Given the description of an element on the screen output the (x, y) to click on. 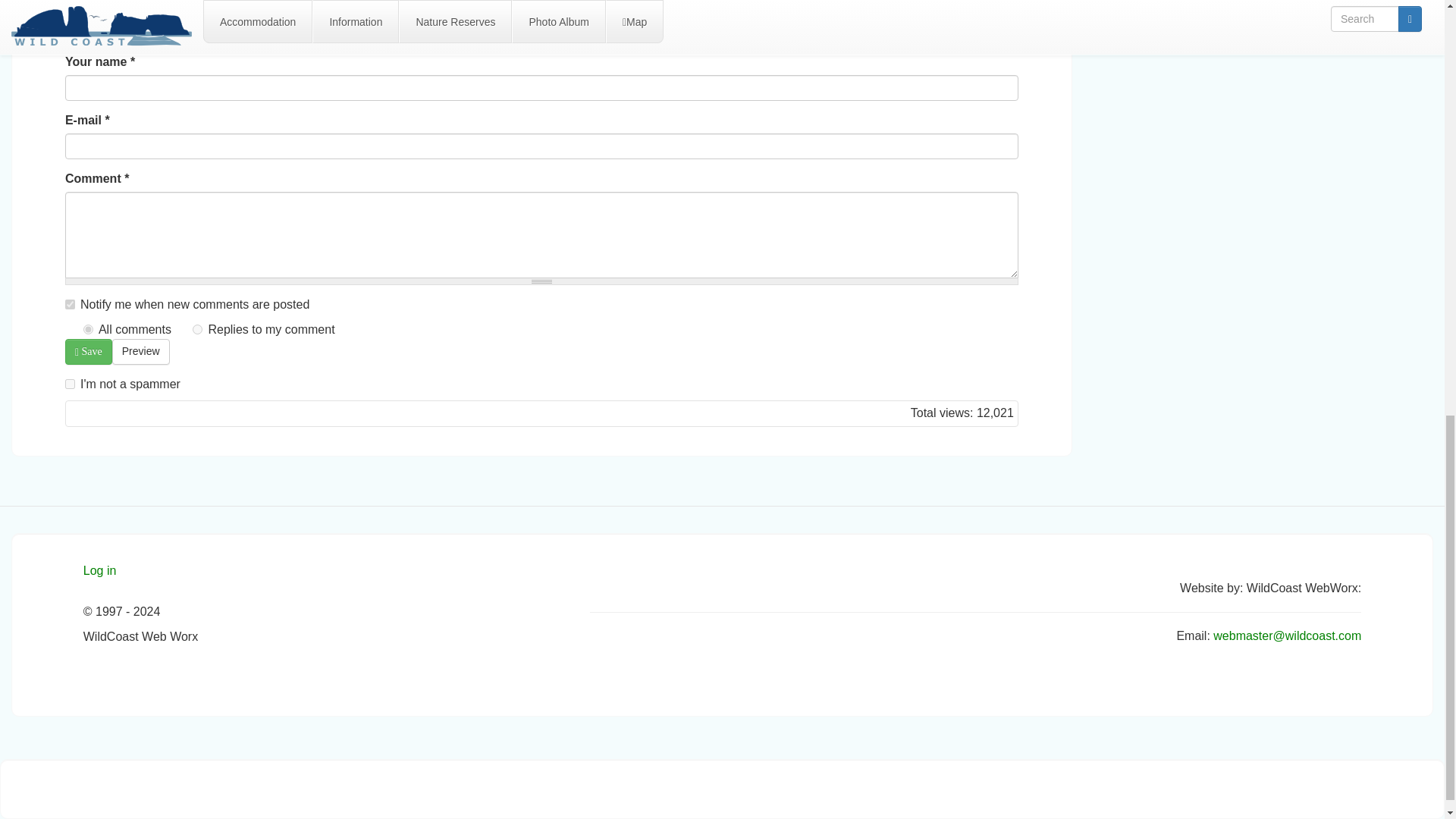
1 (87, 329)
2 (197, 329)
1 (70, 304)
1 (70, 384)
